Given the description of an element on the screen output the (x, y) to click on. 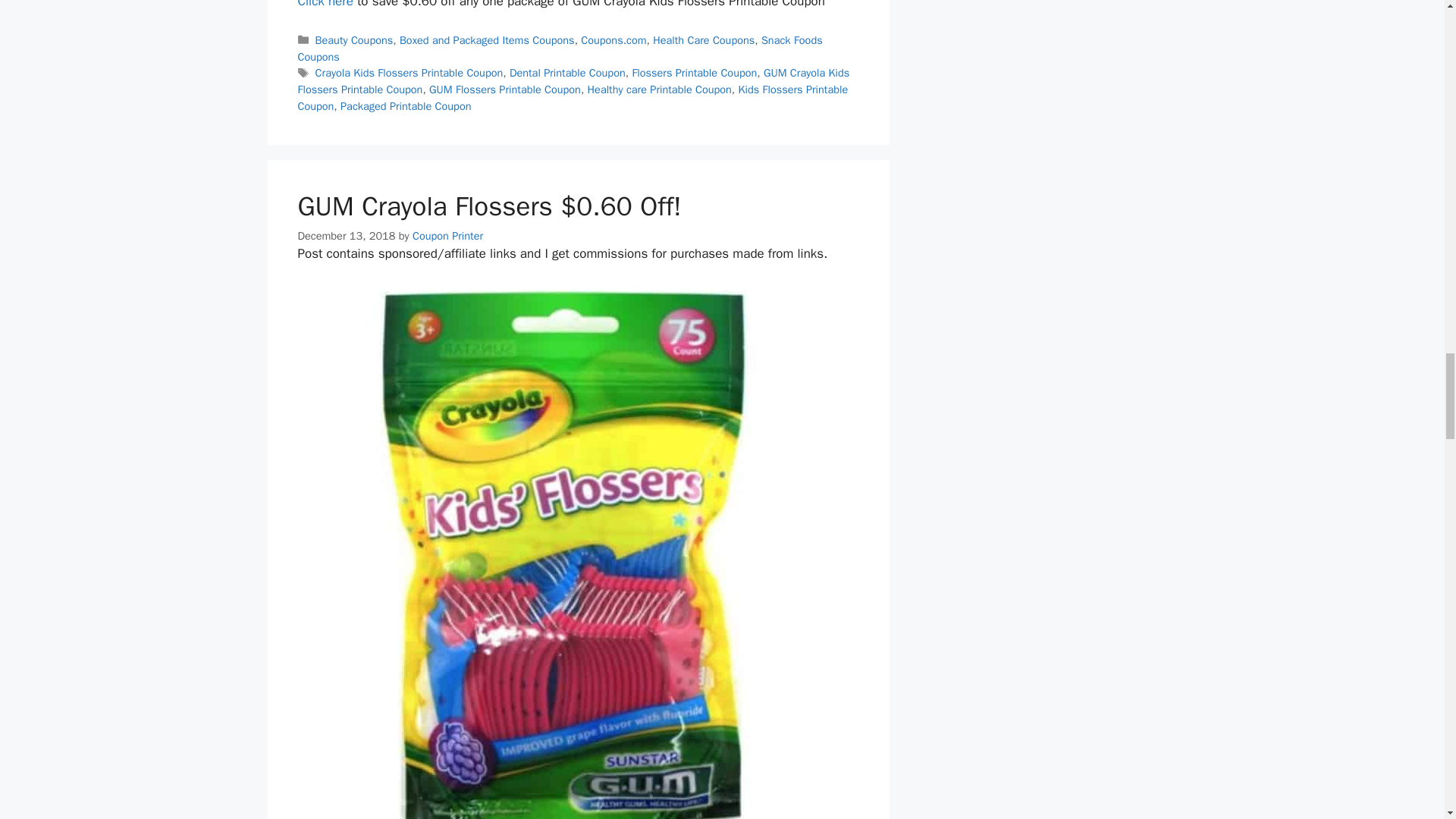
View all posts by Coupon Printer (447, 235)
